Given the description of an element on the screen output the (x, y) to click on. 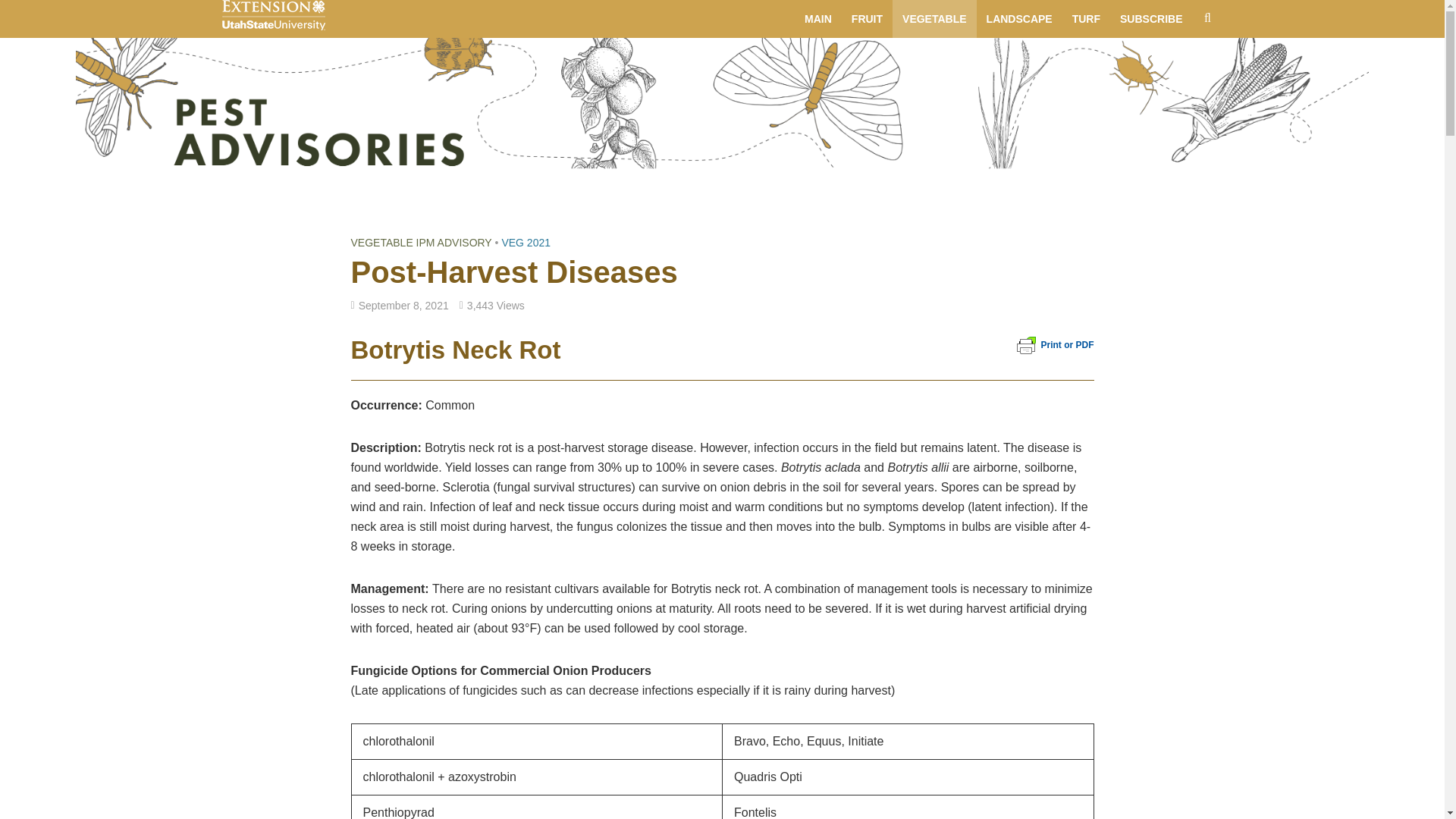
TURF (1085, 18)
MAIN (817, 18)
Print or PDF (1054, 344)
VEGETABLE IPM ADVISORY (421, 244)
VEG 2021 (525, 244)
FRUIT (866, 18)
SUBSCRIBE (1150, 18)
LANDSCAPE (1019, 18)
VEGETABLE (934, 18)
